Given the description of an element on the screen output the (x, y) to click on. 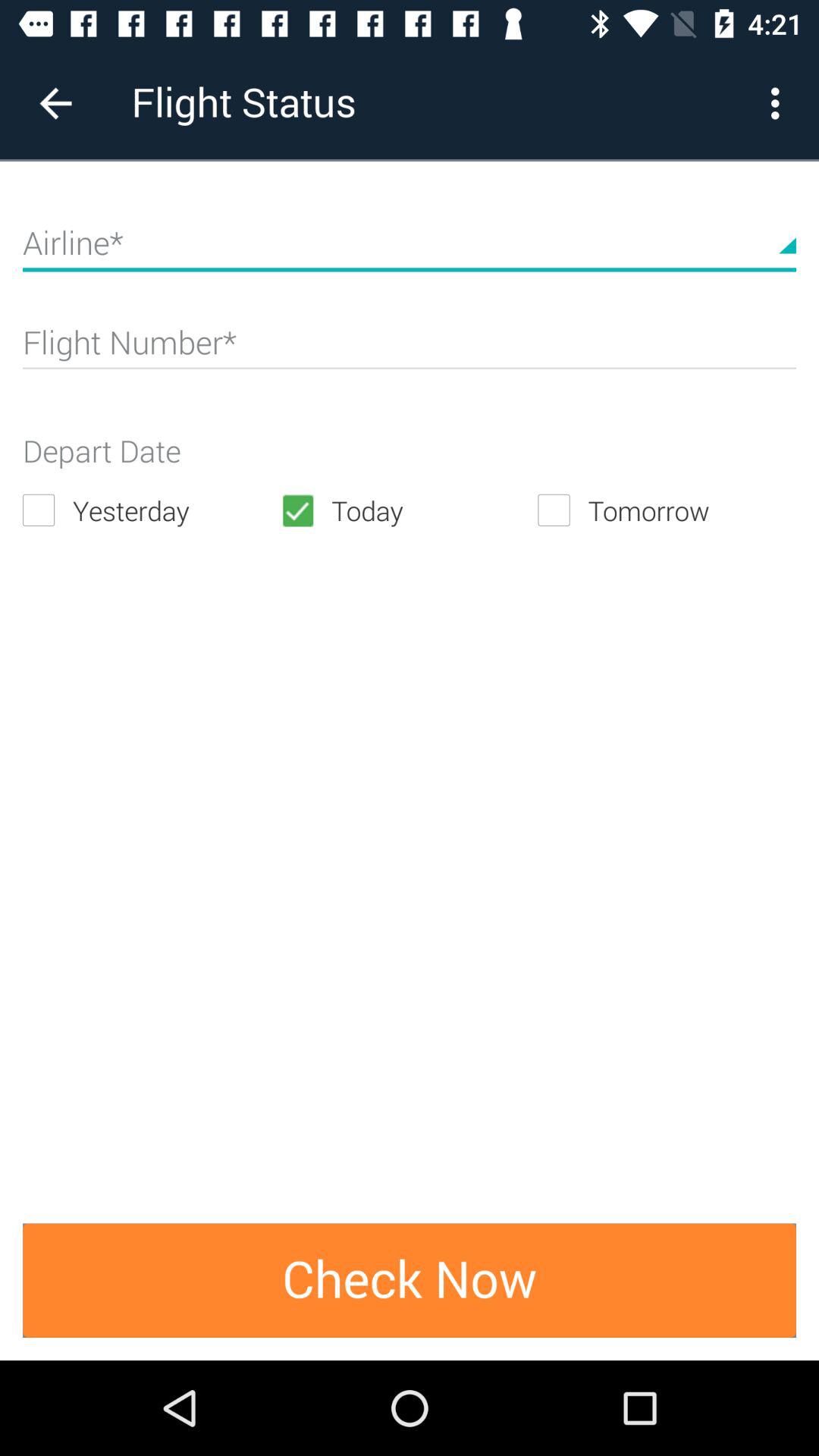
select item to the left of flight status (55, 103)
